Given the description of an element on the screen output the (x, y) to click on. 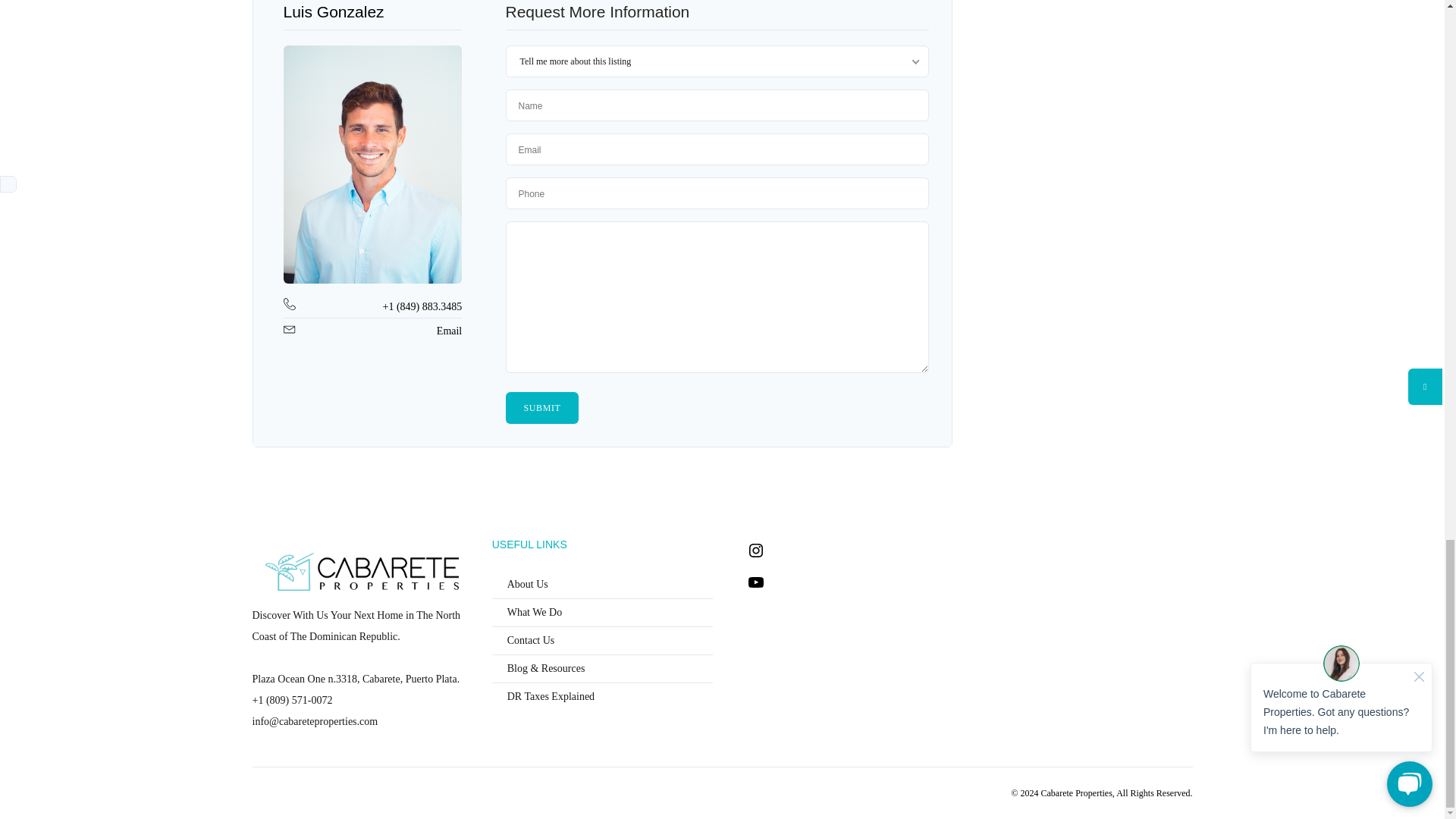
Submit (541, 408)
